Given the description of an element on the screen output the (x, y) to click on. 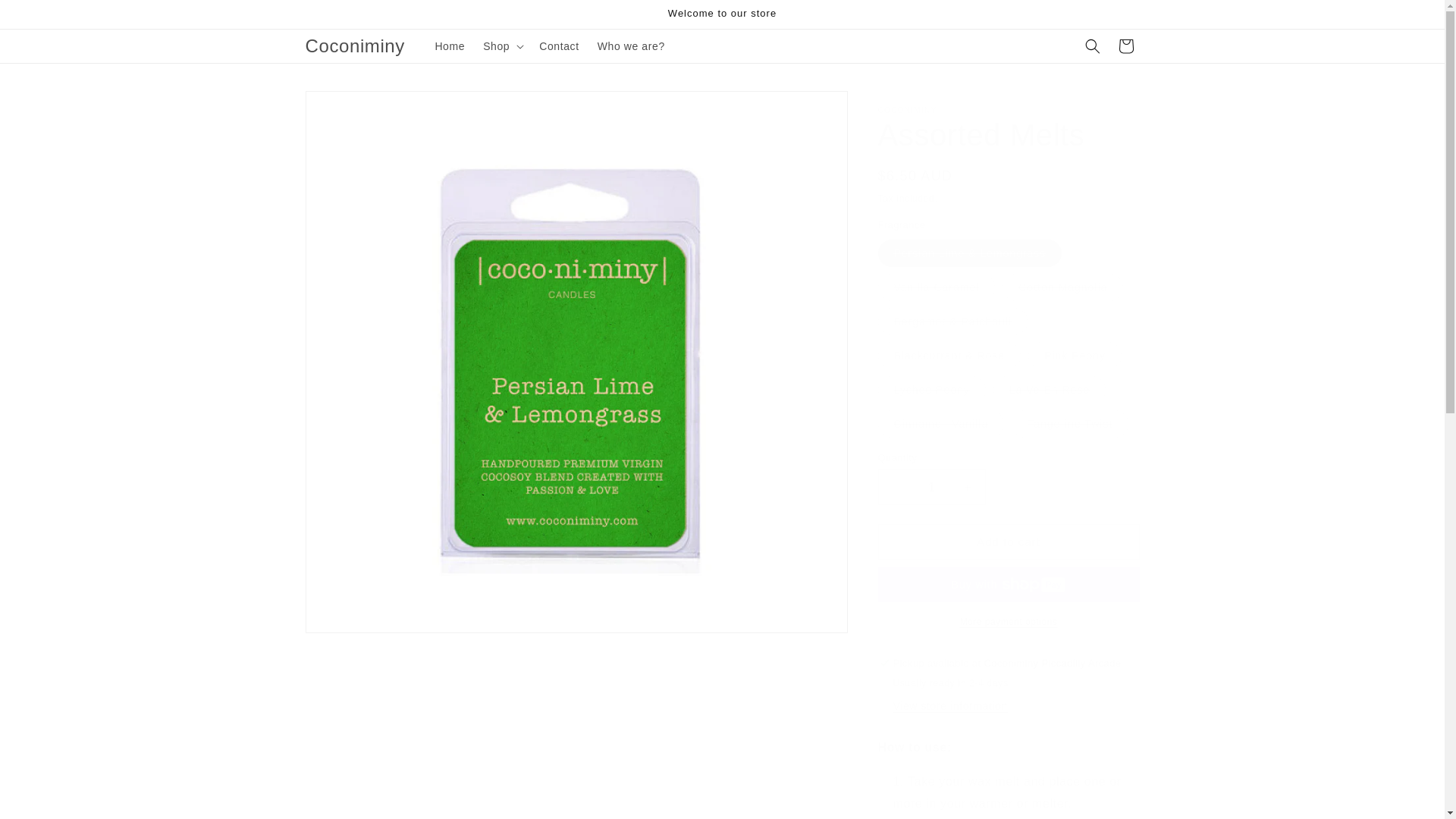
Coconiminy (354, 46)
Skip to product information (350, 108)
Add to cart (1008, 541)
Decrease quantity for Assorted Melts (894, 487)
Cart (1124, 46)
Skip to content (45, 17)
Home (449, 46)
Contact (558, 46)
More payment options (1008, 621)
